Given the description of an element on the screen output the (x, y) to click on. 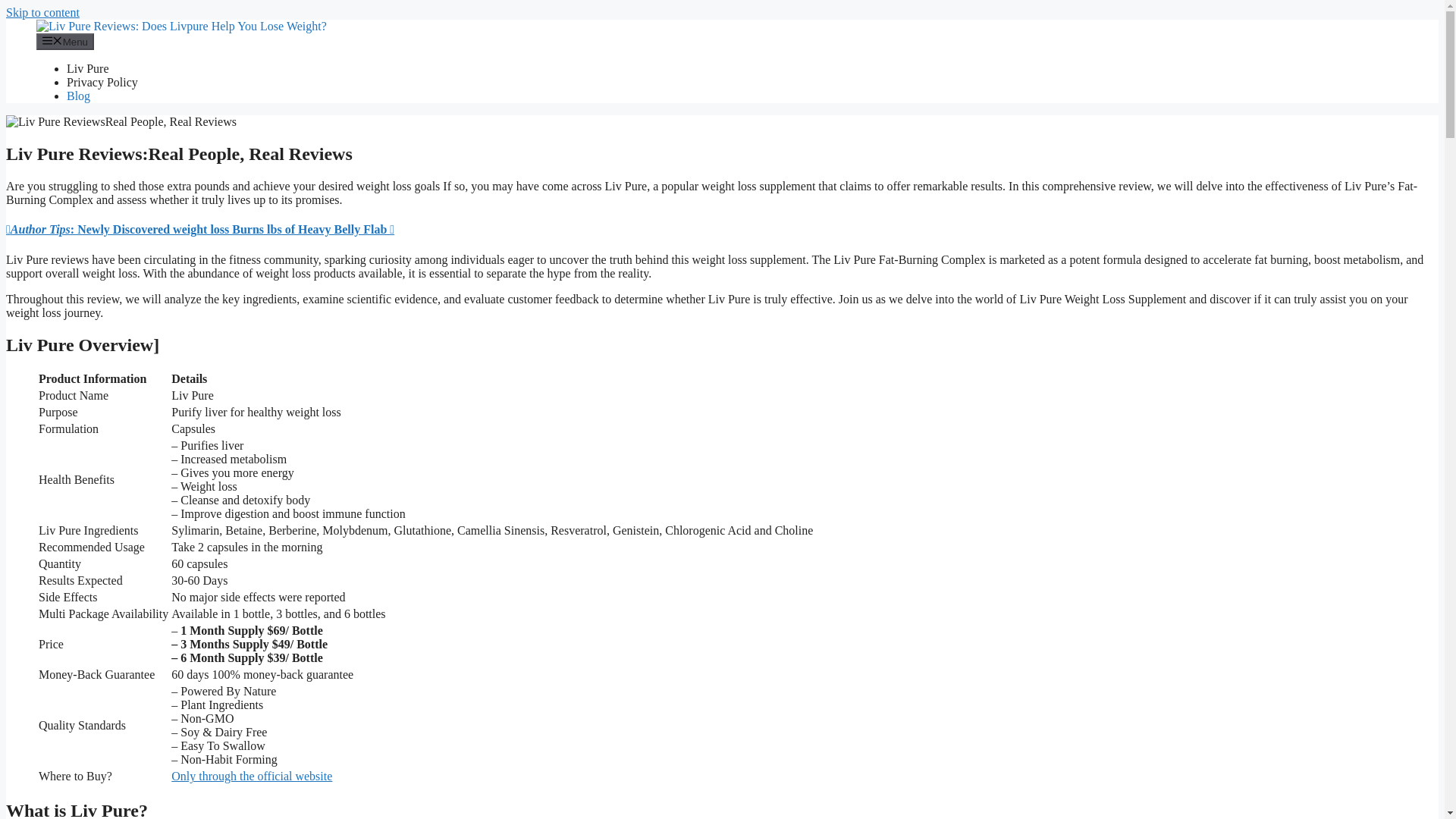
Menu (65, 41)
Skip to content (42, 11)
Liv Pure (87, 68)
Privacy Policy (102, 82)
Blog (78, 95)
Skip to content (42, 11)
Liv Pure Reviews: Does Livpure Help You Lose Weight? (181, 26)
Only through the official website (251, 775)
Liv Pure Reviews: Does Livpure Help You Lose Weight? (181, 25)
